Given the description of an element on the screen output the (x, y) to click on. 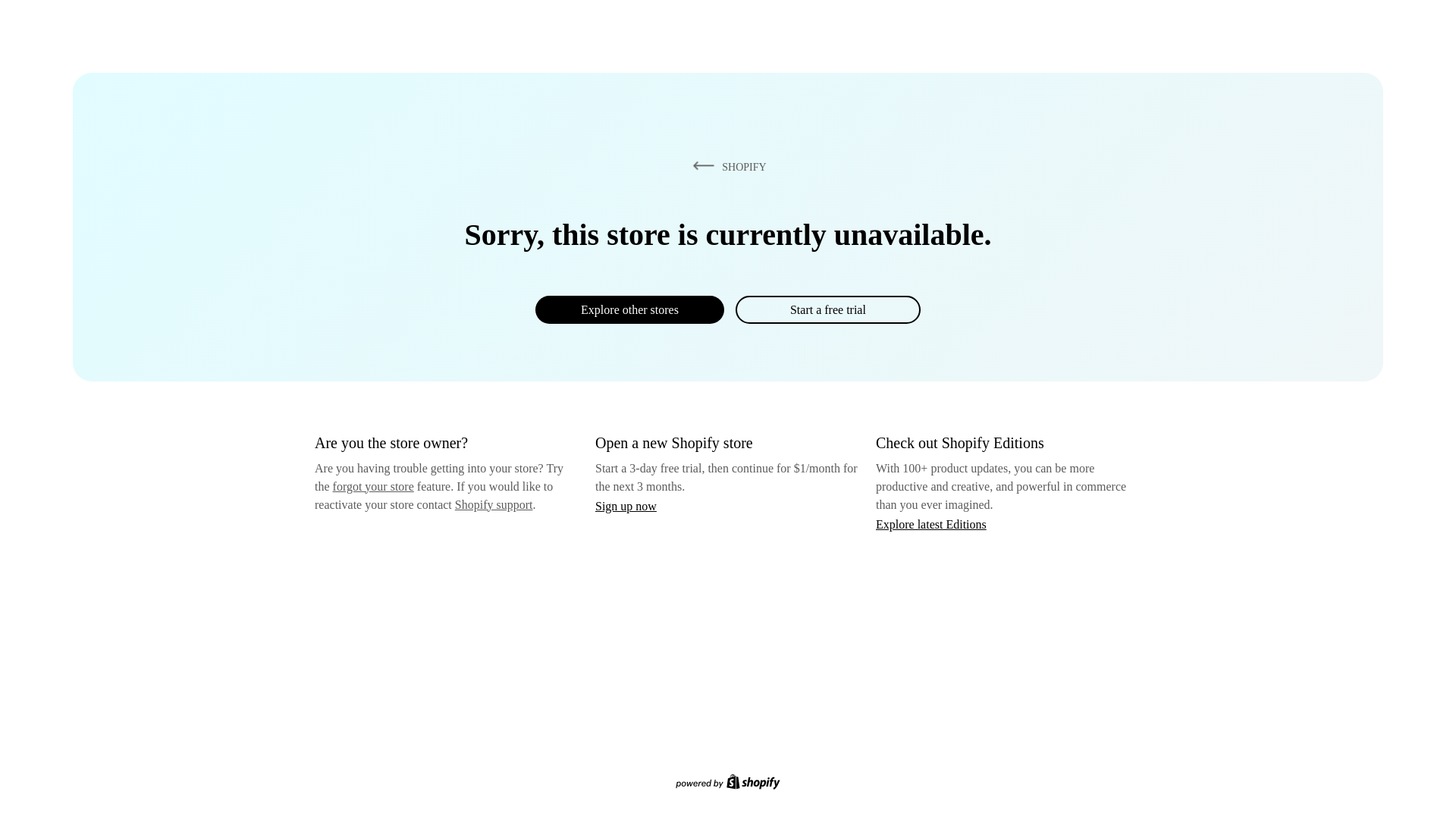
Start a free trial (827, 309)
SHOPIFY (726, 166)
Explore latest Editions (931, 523)
Shopify support (493, 504)
Explore other stores (629, 309)
Sign up now (625, 505)
forgot your store (373, 486)
